Given the description of an element on the screen output the (x, y) to click on. 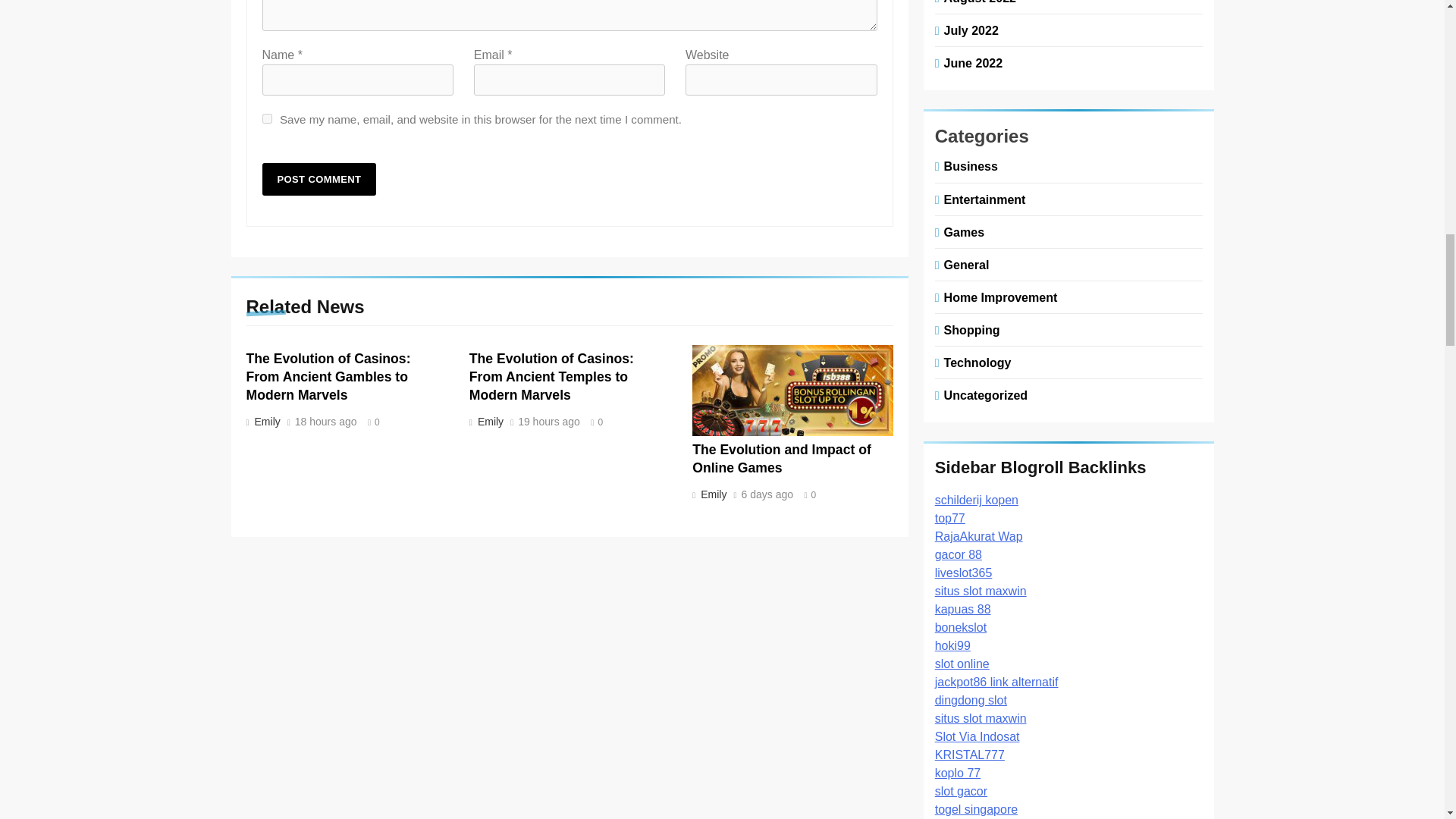
The Evolution and Impact of Online Games (781, 458)
Emily (488, 421)
19 hours ago (548, 421)
yes (267, 118)
6 days ago (767, 494)
Post Comment (319, 178)
18 hours ago (325, 421)
Emily (265, 421)
Emily (712, 494)
